Given the description of an element on the screen output the (x, y) to click on. 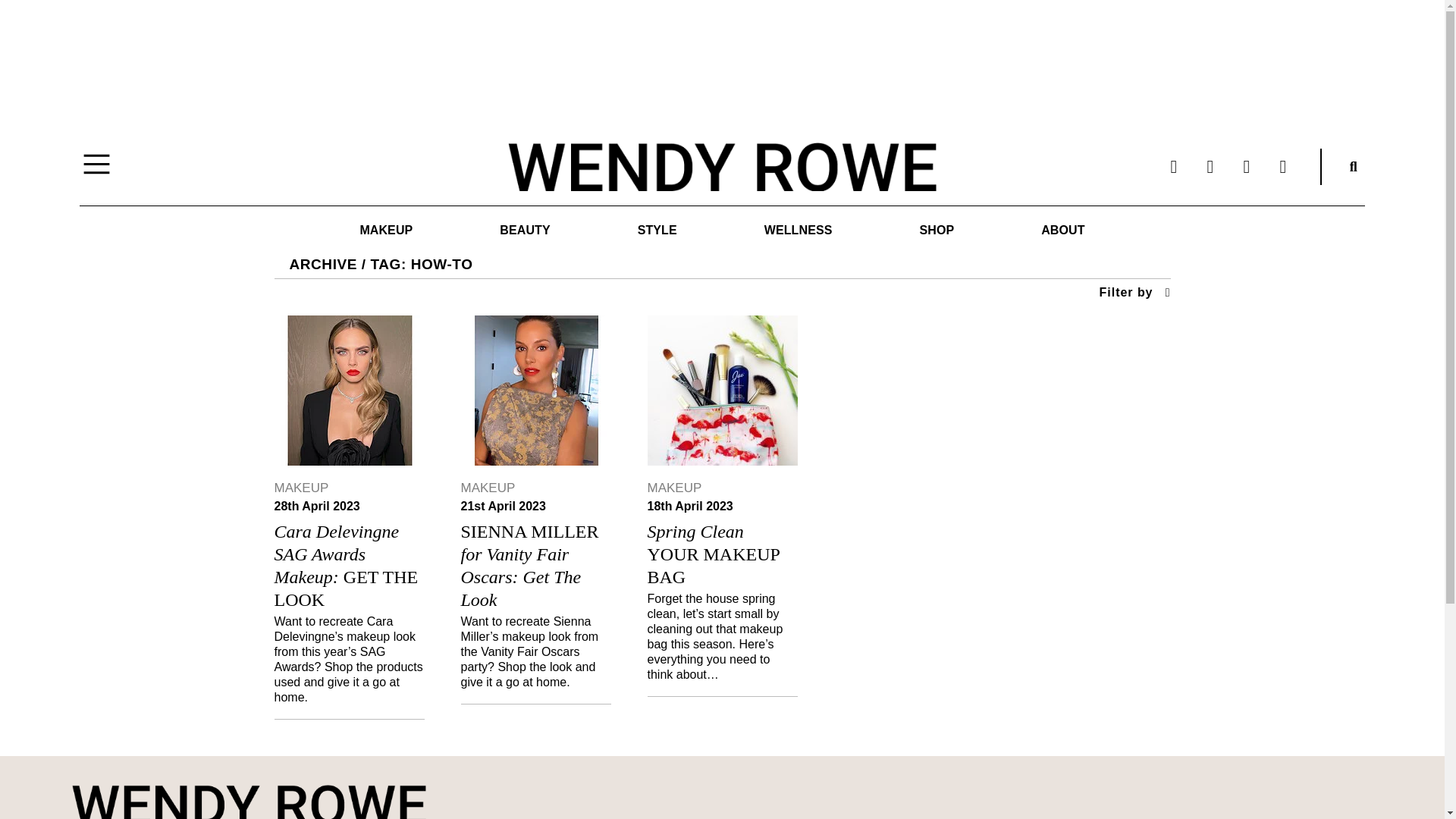
View all posts in Makeup (674, 487)
View all posts in Makeup (488, 487)
View all posts in Makeup (302, 487)
